Given the description of an element on the screen output the (x, y) to click on. 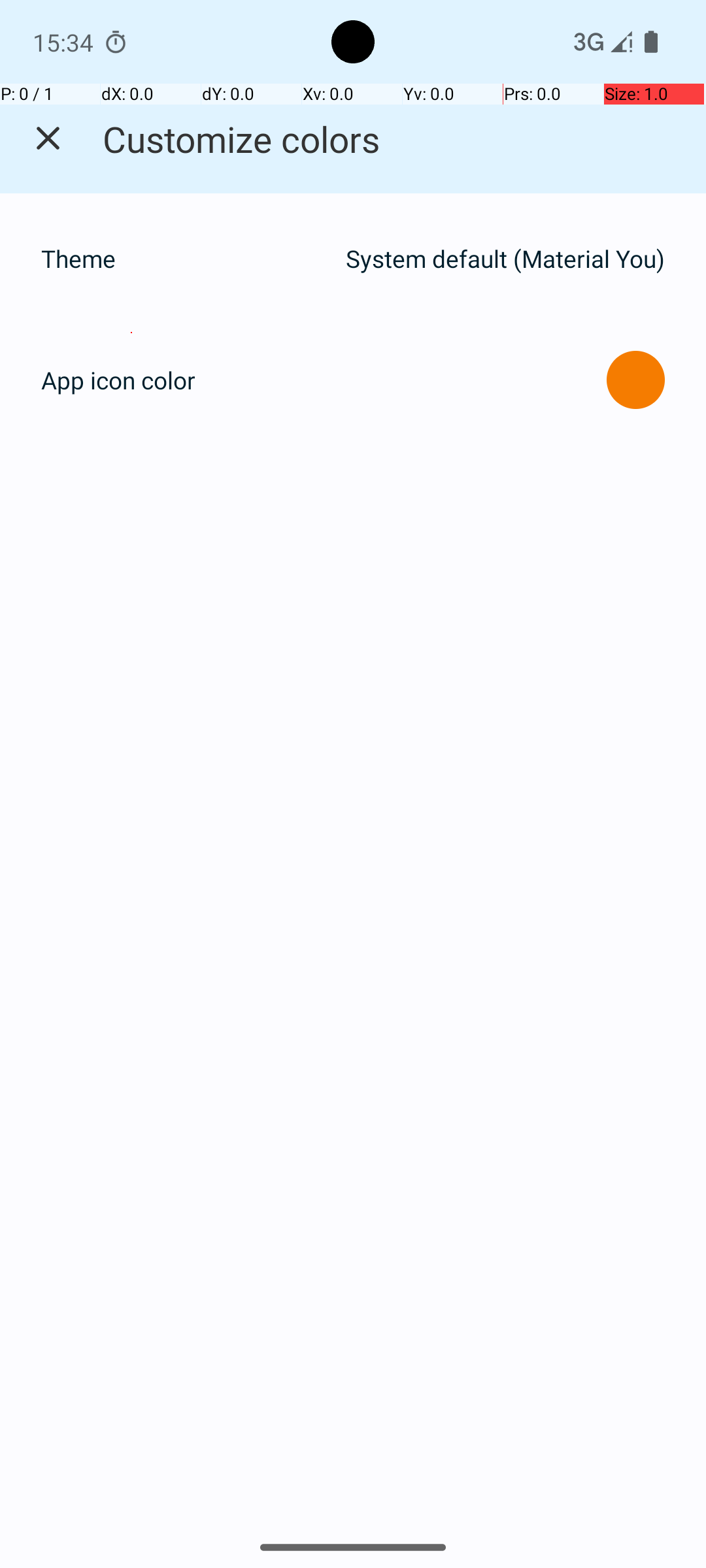
App icon color Element type: android.widget.TextView (118, 379)
